Given the description of an element on the screen output the (x, y) to click on. 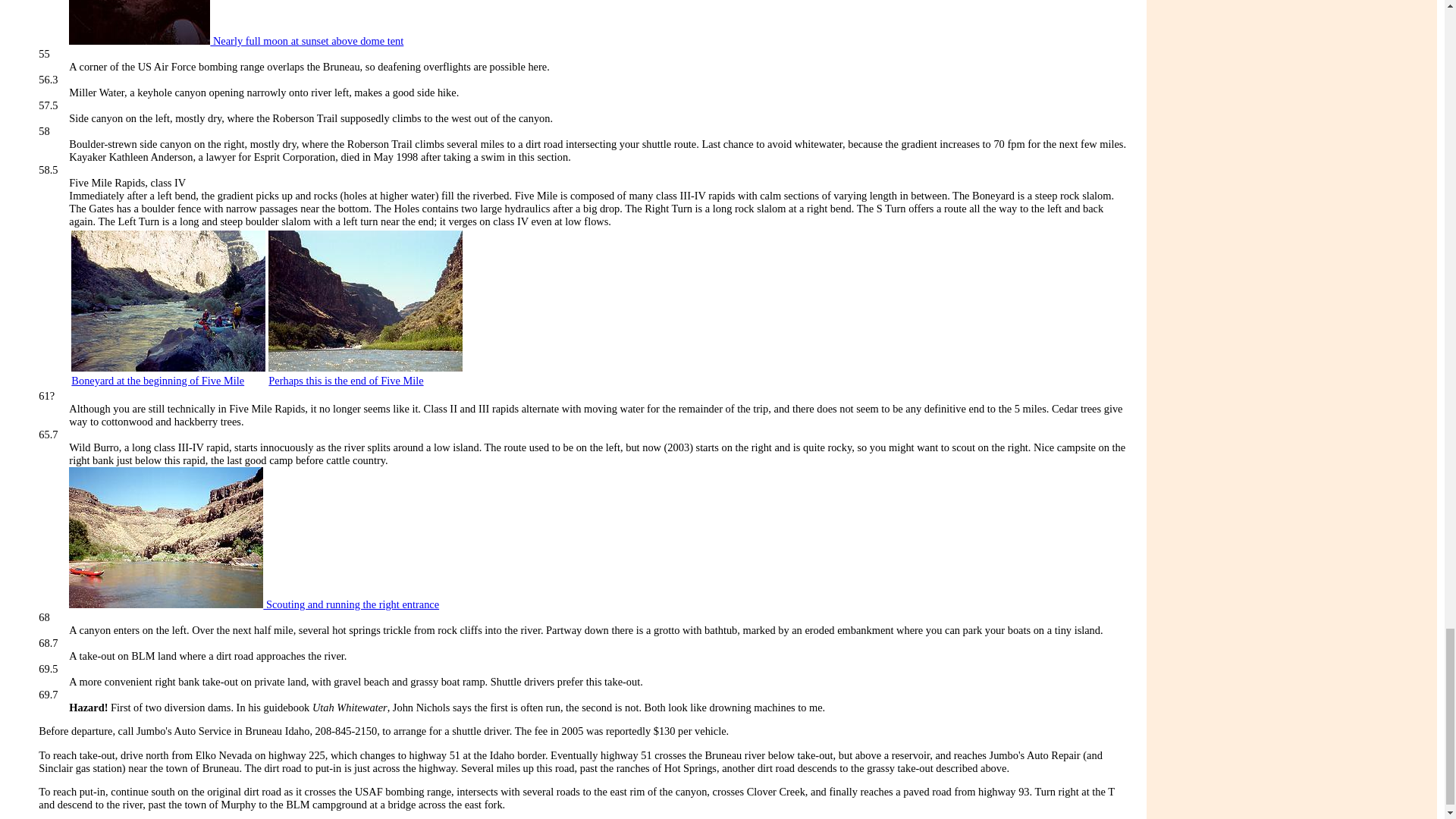
Boneyard at the beginning of Five Mile (157, 380)
Nearly full moon at sunset above dome tent (235, 40)
Perhaps this is the end of Five Mile (345, 380)
Scouting and running the right entrance (253, 604)
